Given the description of an element on the screen output the (x, y) to click on. 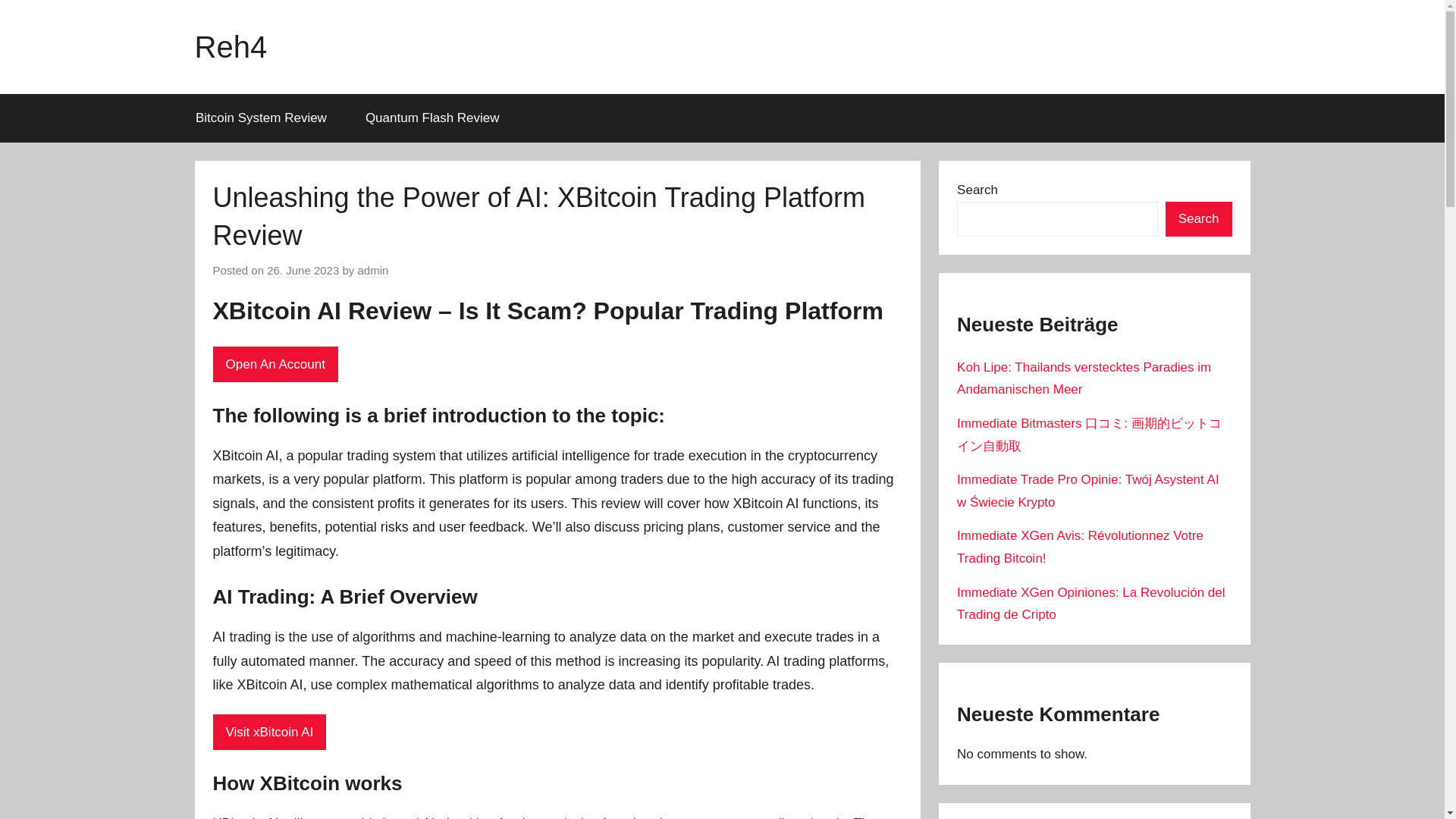
Open An Account (274, 364)
Quantum Flash Review (432, 118)
Reh4 (229, 46)
26. June 2023 (302, 270)
Open An Account (274, 363)
View all posts by admin (373, 270)
Search (1198, 219)
Visit xBitcoin AI (269, 732)
Visit xBitcoin AI (269, 731)
